Given the description of an element on the screen output the (x, y) to click on. 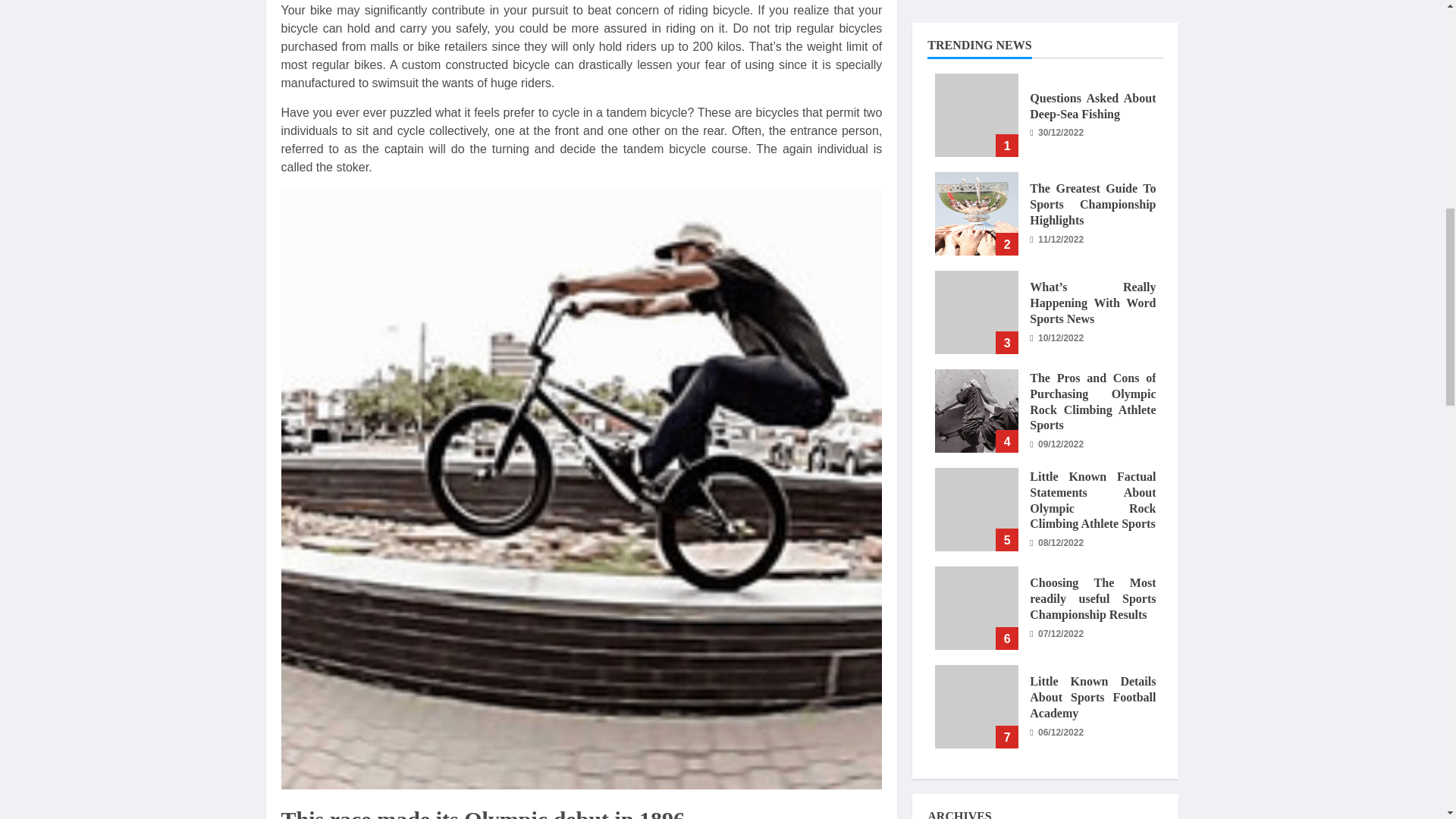
Choosing The Most readily useful Sports Championship Results (975, 45)
Little Known Details About Sports Football Academy (975, 143)
